Given the description of an element on the screen output the (x, y) to click on. 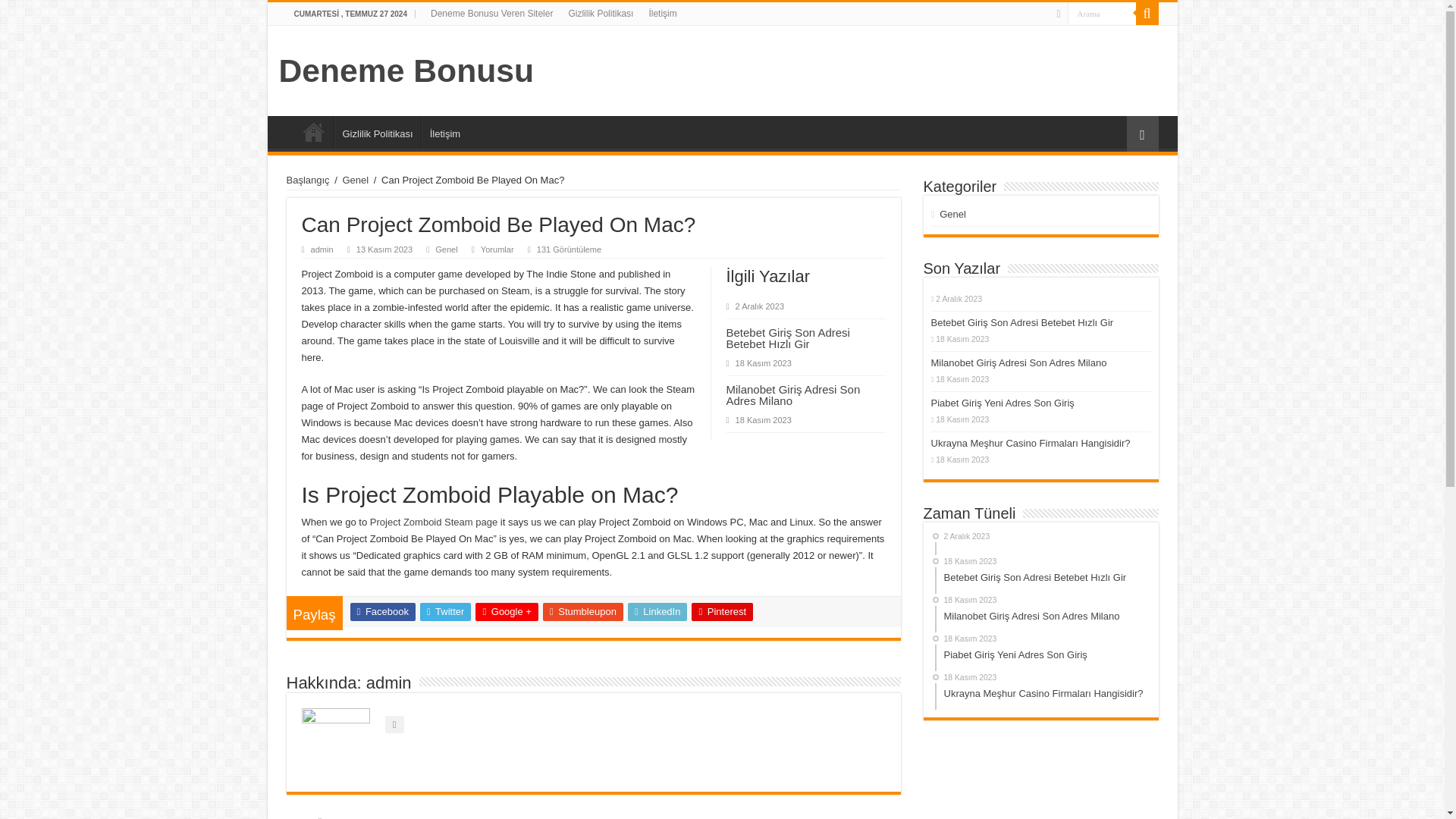
Deneme Bonusu (406, 70)
Deneme Bonusu Veren Siteler (313, 132)
Stumbleupon (583, 611)
Arama (1146, 13)
Genel (446, 248)
Yorumlar (355, 179)
Project Zomboid Steam page (496, 248)
Arama (433, 521)
Pinterest (1101, 13)
Facebook (721, 611)
Genel (382, 611)
Arama (952, 214)
admin (1101, 13)
